Given the description of an element on the screen output the (x, y) to click on. 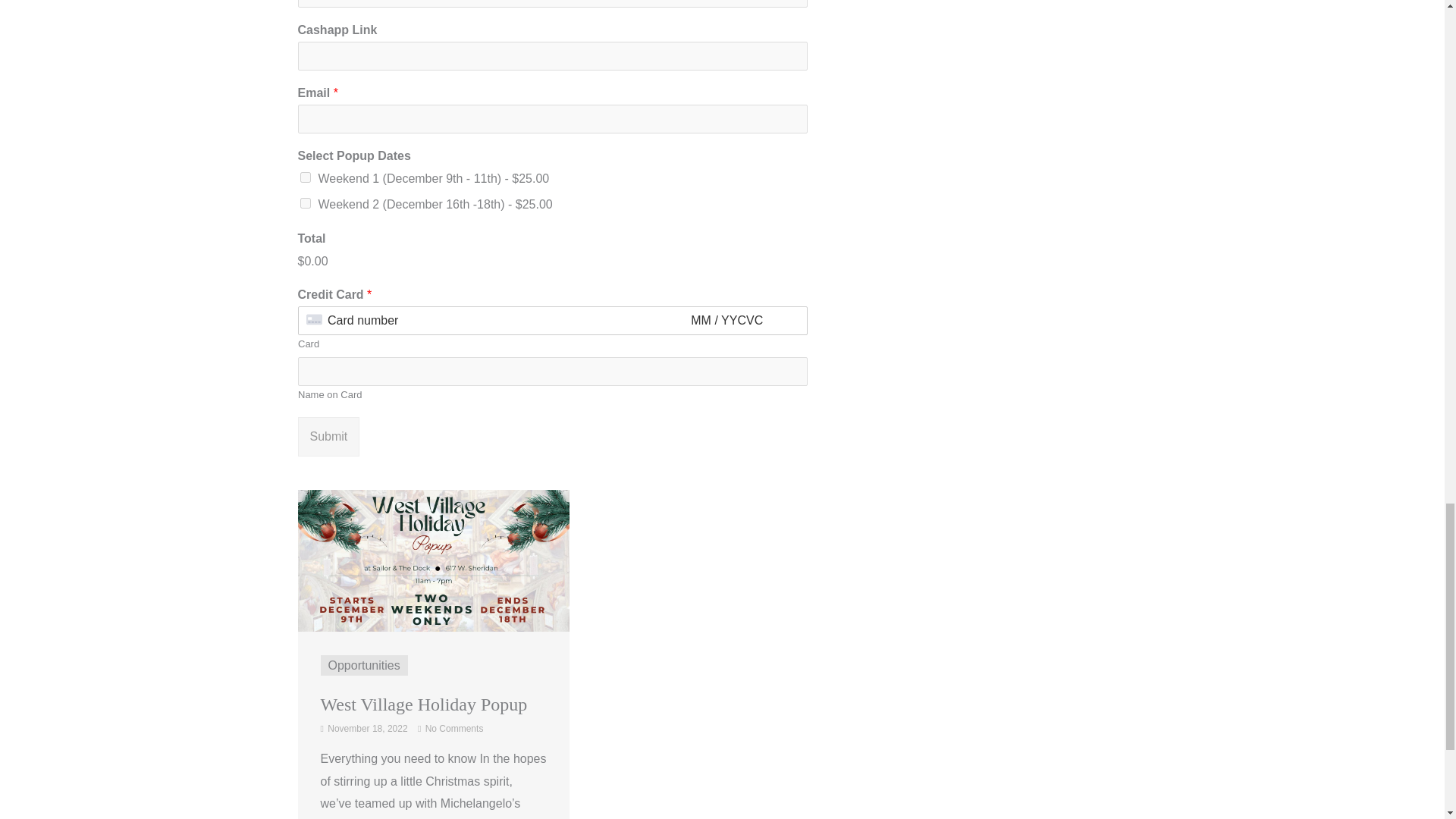
Opportunities (362, 665)
West Village Holiday Popup (423, 704)
4 (305, 203)
Secure card payment input frame (552, 320)
West Village Holiday Popup (433, 559)
Submit (328, 436)
5 (305, 176)
